Given the description of an element on the screen output the (x, y) to click on. 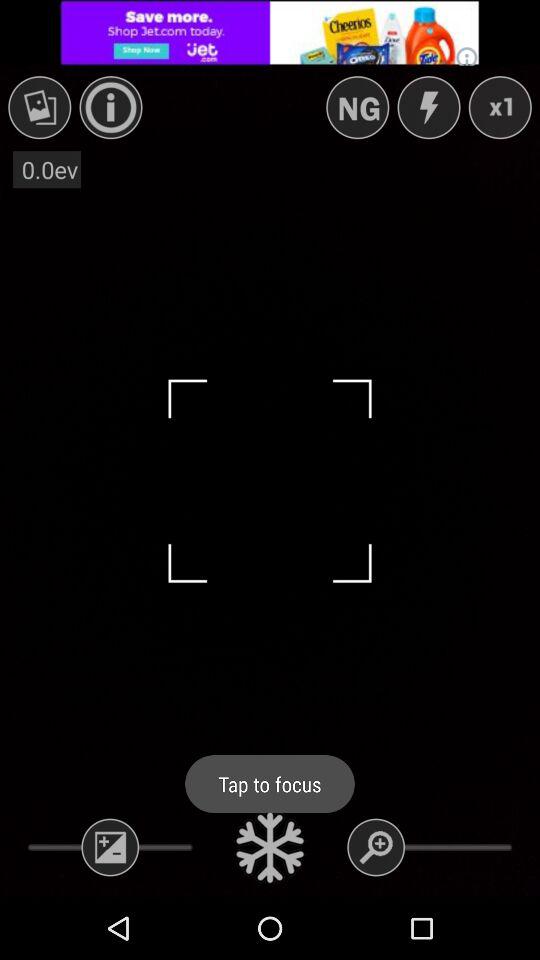
take photo button (269, 847)
